Given the description of an element on the screen output the (x, y) to click on. 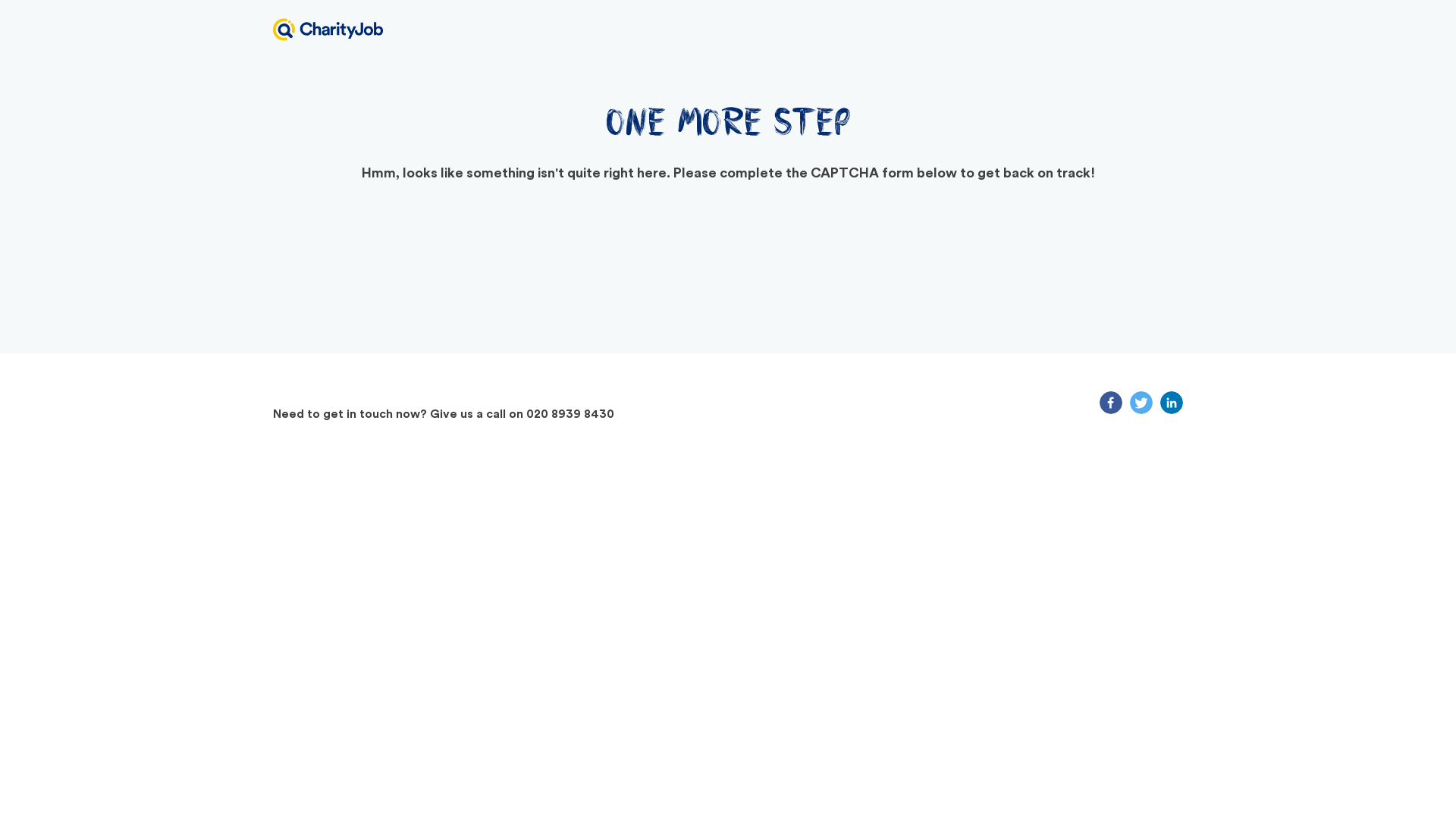
Twitter (1141, 402)
CharityJob (327, 29)
Facebook (1110, 402)
020 8939 8430 (569, 413)
LinkedIn (1171, 402)
